Given the description of an element on the screen output the (x, y) to click on. 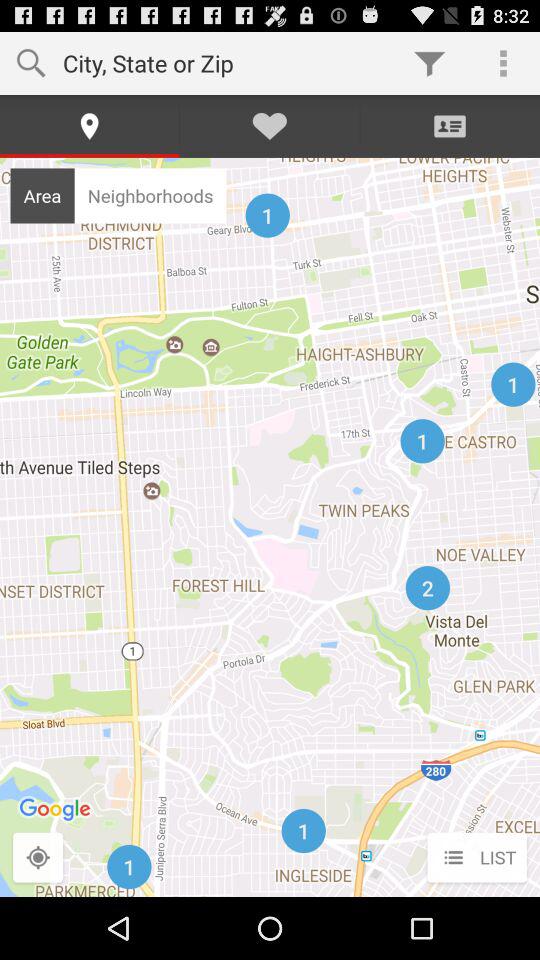
open area icon (42, 195)
